Given the description of an element on the screen output the (x, y) to click on. 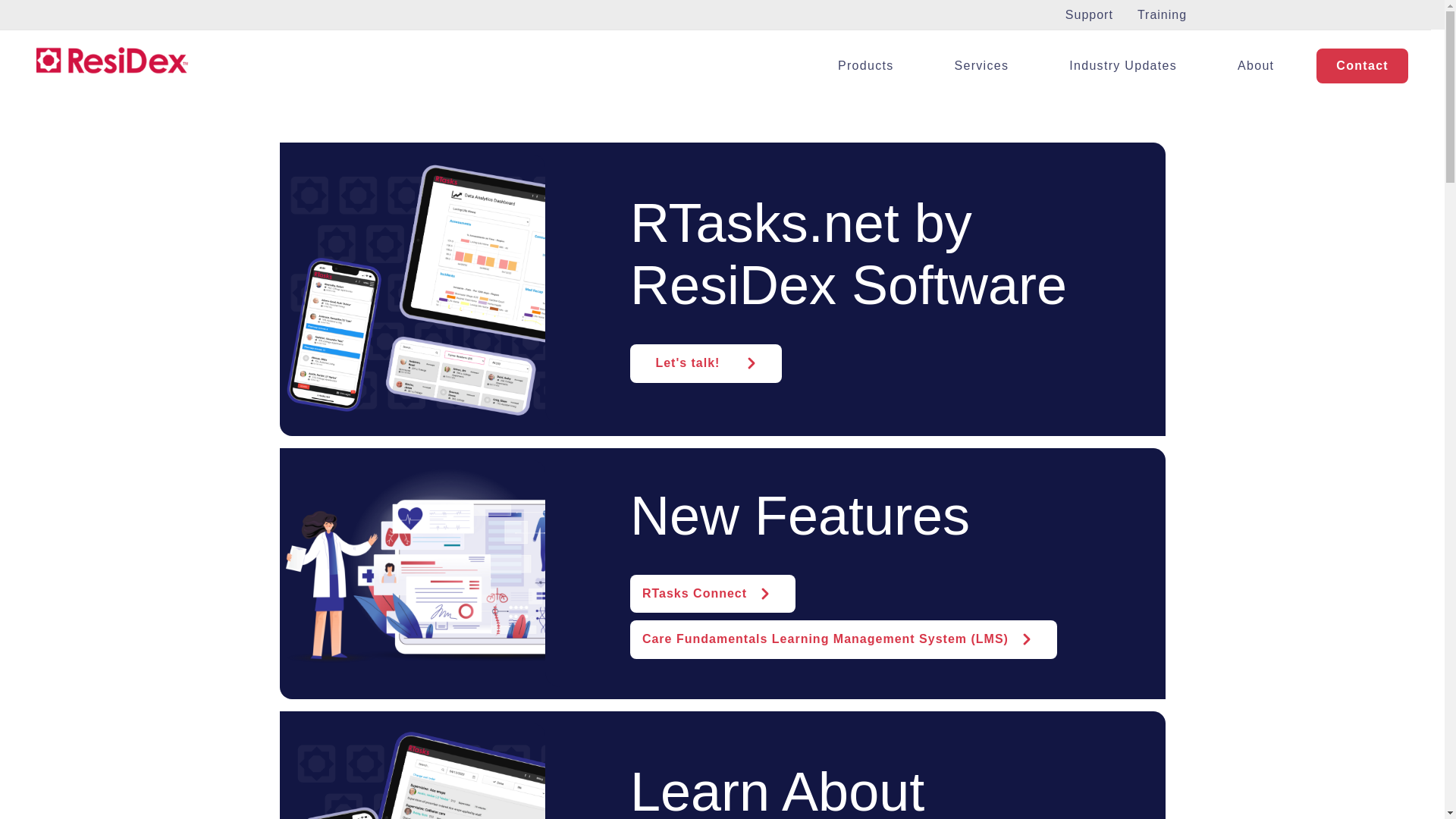
Products (865, 65)
Training (1161, 14)
home (111, 59)
Industry Updates (1123, 65)
Services (981, 65)
home (111, 59)
Support (1089, 14)
